Given the description of an element on the screen output the (x, y) to click on. 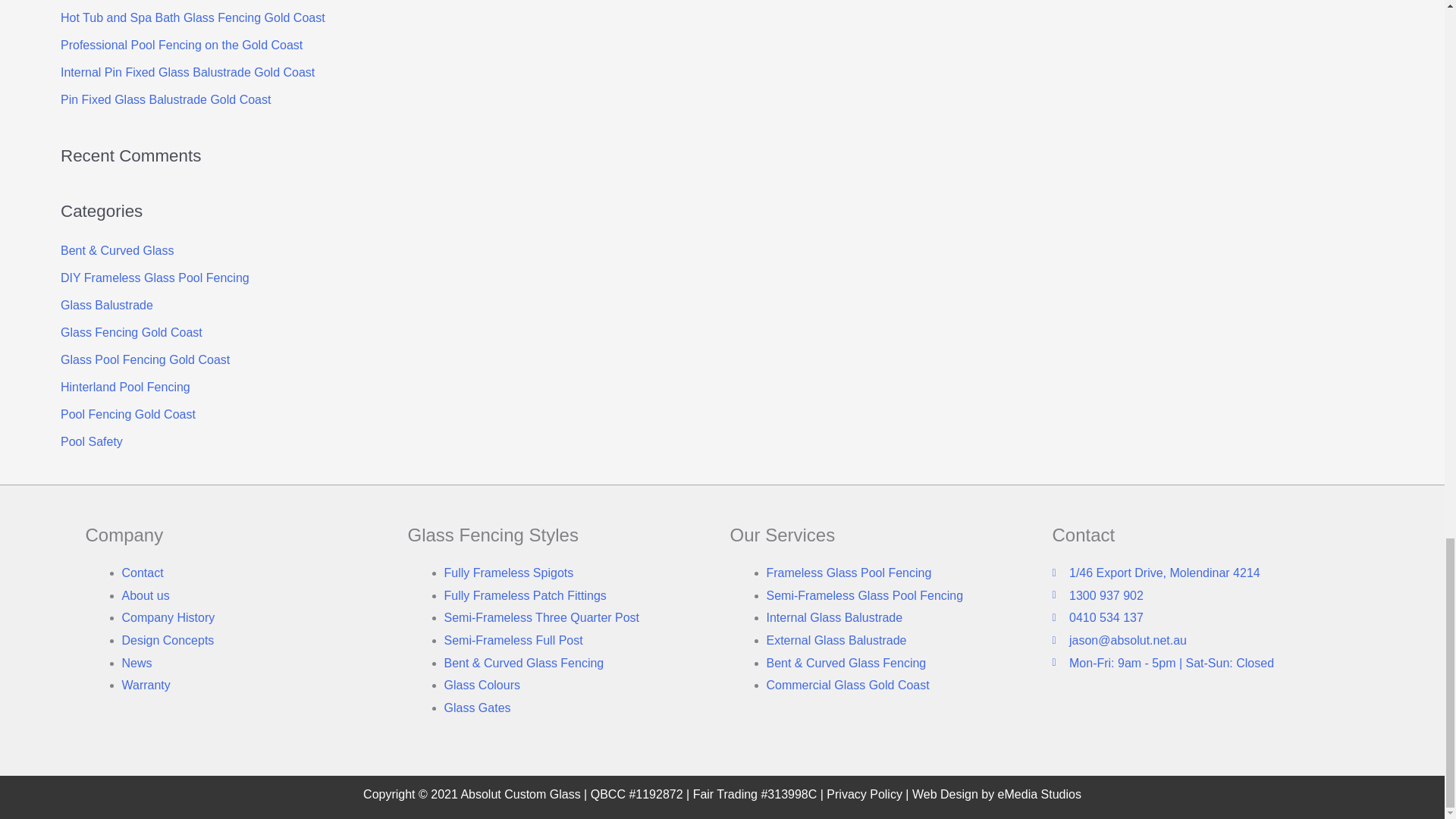
Gold Coast Web Design (1039, 793)
Web Design Gold Coast (945, 793)
